Given the description of an element on the screen output the (x, y) to click on. 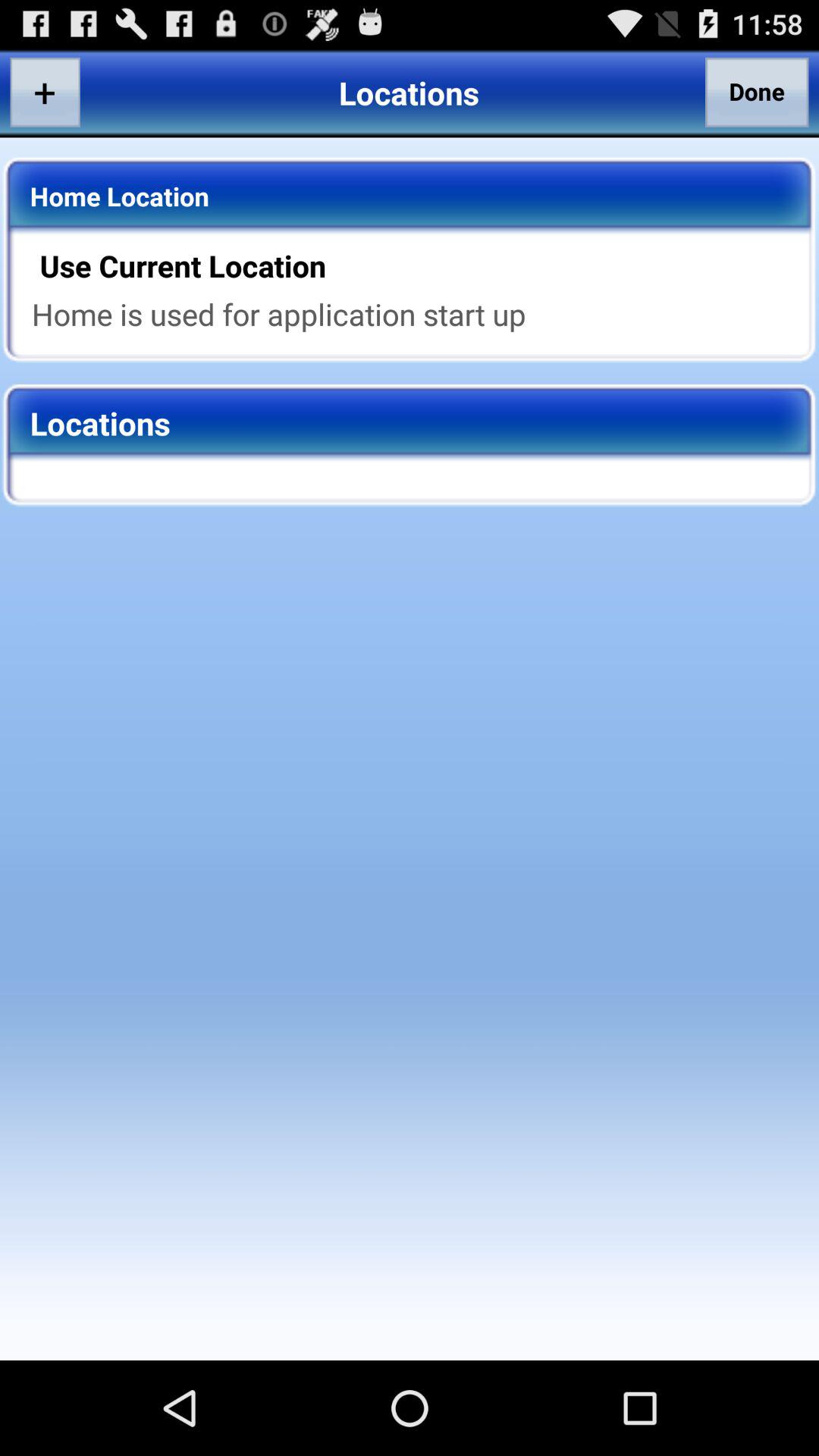
select the app above the home location (45, 92)
